Given the description of an element on the screen output the (x, y) to click on. 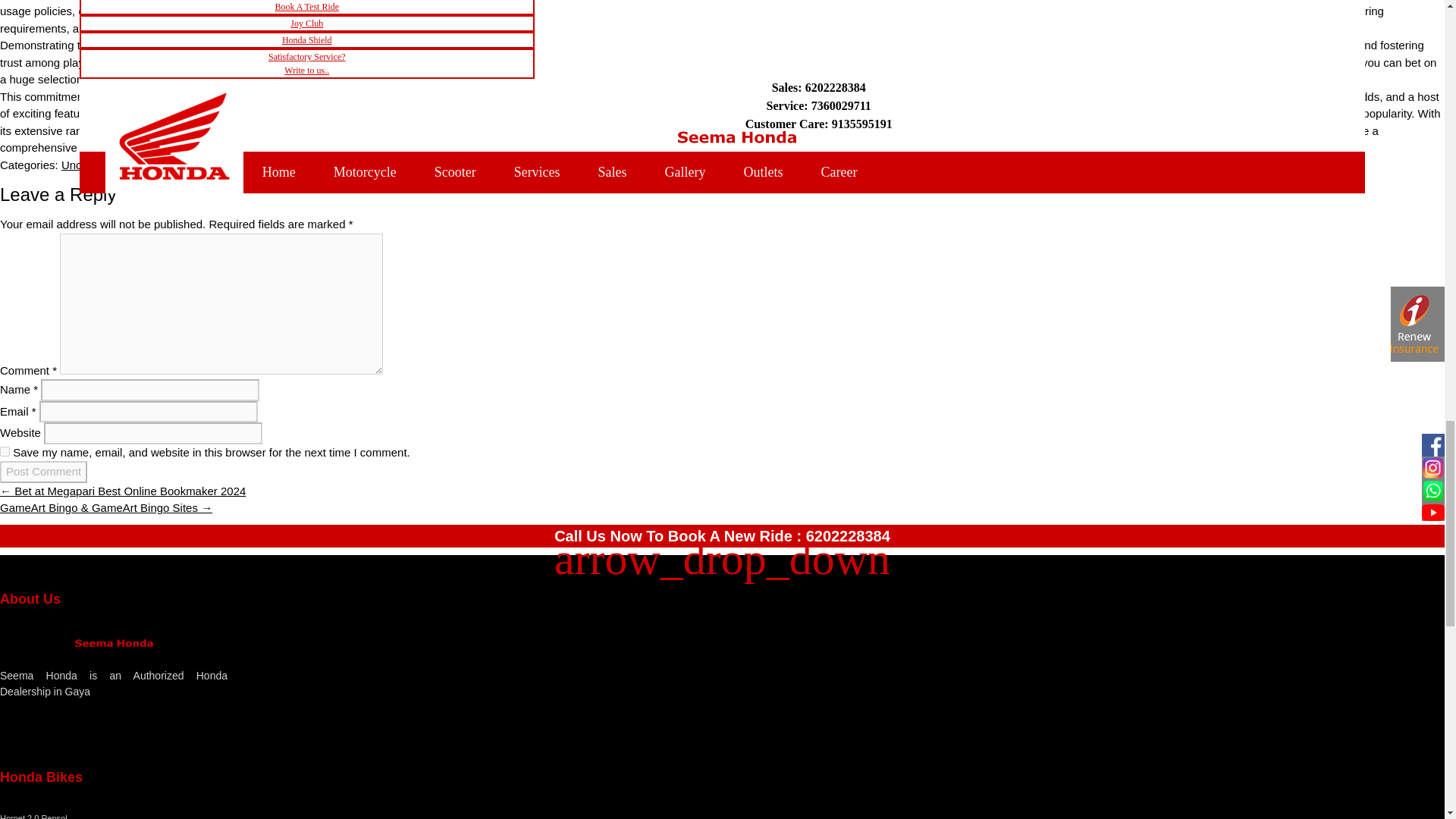
yes (5, 450)
Post Comment (43, 472)
